Given the description of an element on the screen output the (x, y) to click on. 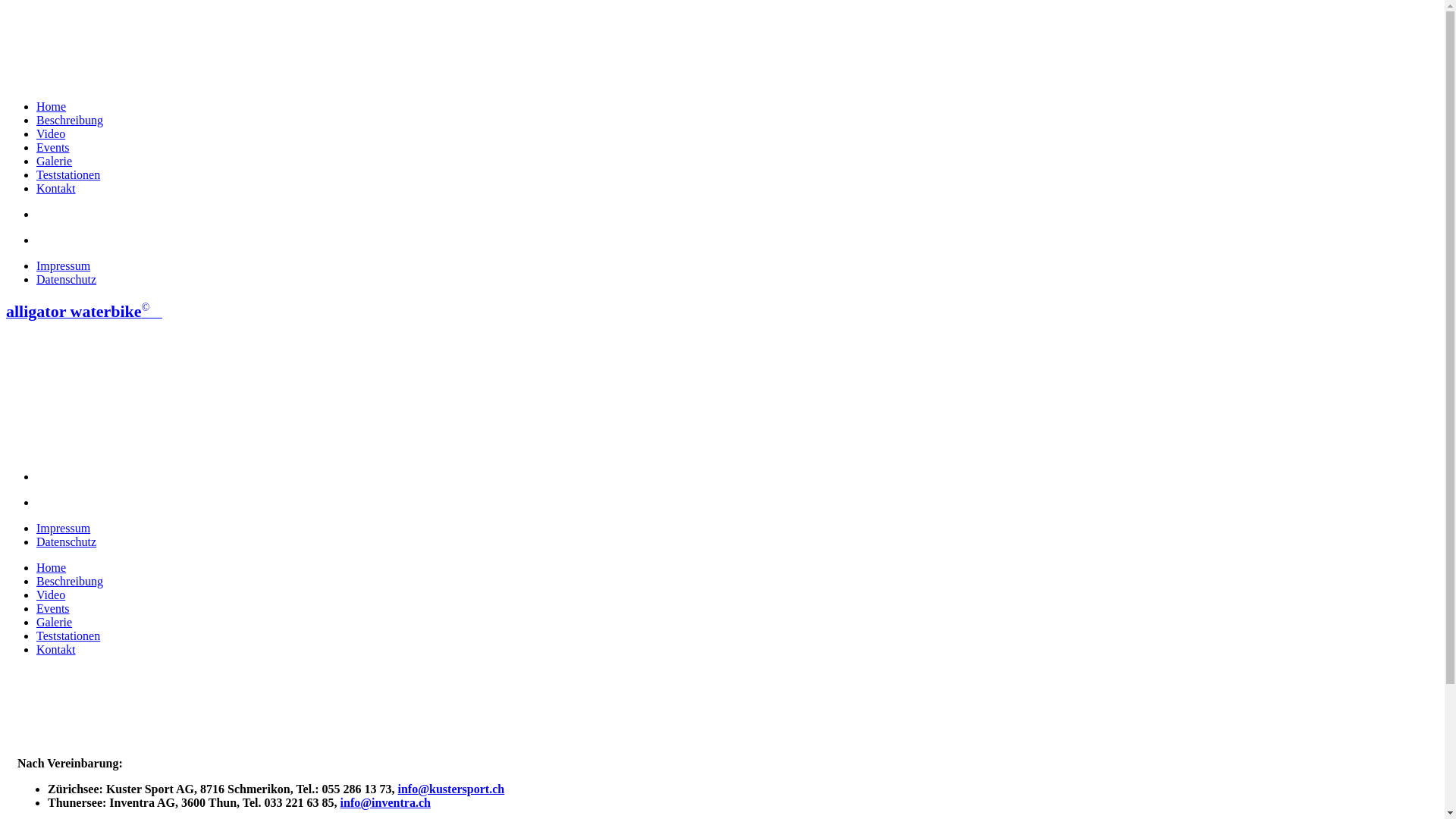
Beschreibung Element type: text (69, 580)
Galerie Element type: text (54, 621)
Impressum Element type: text (63, 265)
Teststationen Element type: text (68, 174)
Home Element type: text (50, 106)
info@kustersport.ch Element type: text (450, 788)
Video Element type: text (50, 133)
Teststationen Element type: text (68, 635)
Kontakt Element type: text (55, 188)
Galerie Element type: text (54, 160)
Datenschutz Element type: text (66, 279)
Impressum Element type: text (63, 527)
Video Element type: text (50, 594)
info@inventra.ch Element type: text (385, 802)
Home Element type: text (50, 567)
Events Element type: text (52, 608)
Beschreibung Element type: text (69, 119)
Events Element type: text (52, 147)
Datenschutz Element type: text (66, 541)
Kontakt Element type: text (55, 649)
